Given the description of an element on the screen output the (x, y) to click on. 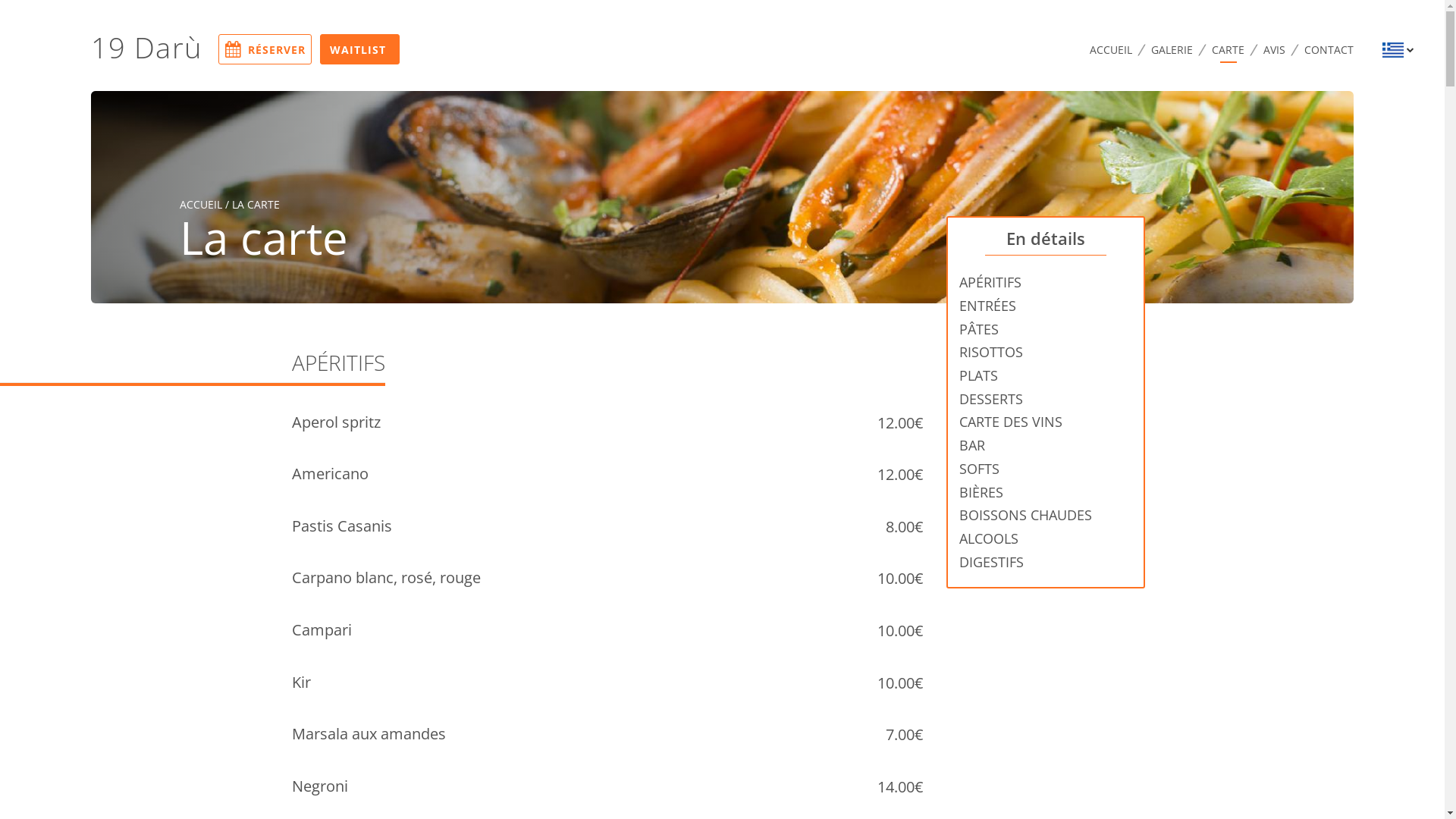
ACCUEIL Element type: text (1110, 49)
CARTE Element type: text (1227, 52)
GALERIE Element type: text (1171, 49)
AVIS Element type: text (1274, 49)
CONTACT Element type: text (1328, 49)
WAITLIST Element type: text (359, 49)
ACCUEIL Element type: text (200, 204)
